Given the description of an element on the screen output the (x, y) to click on. 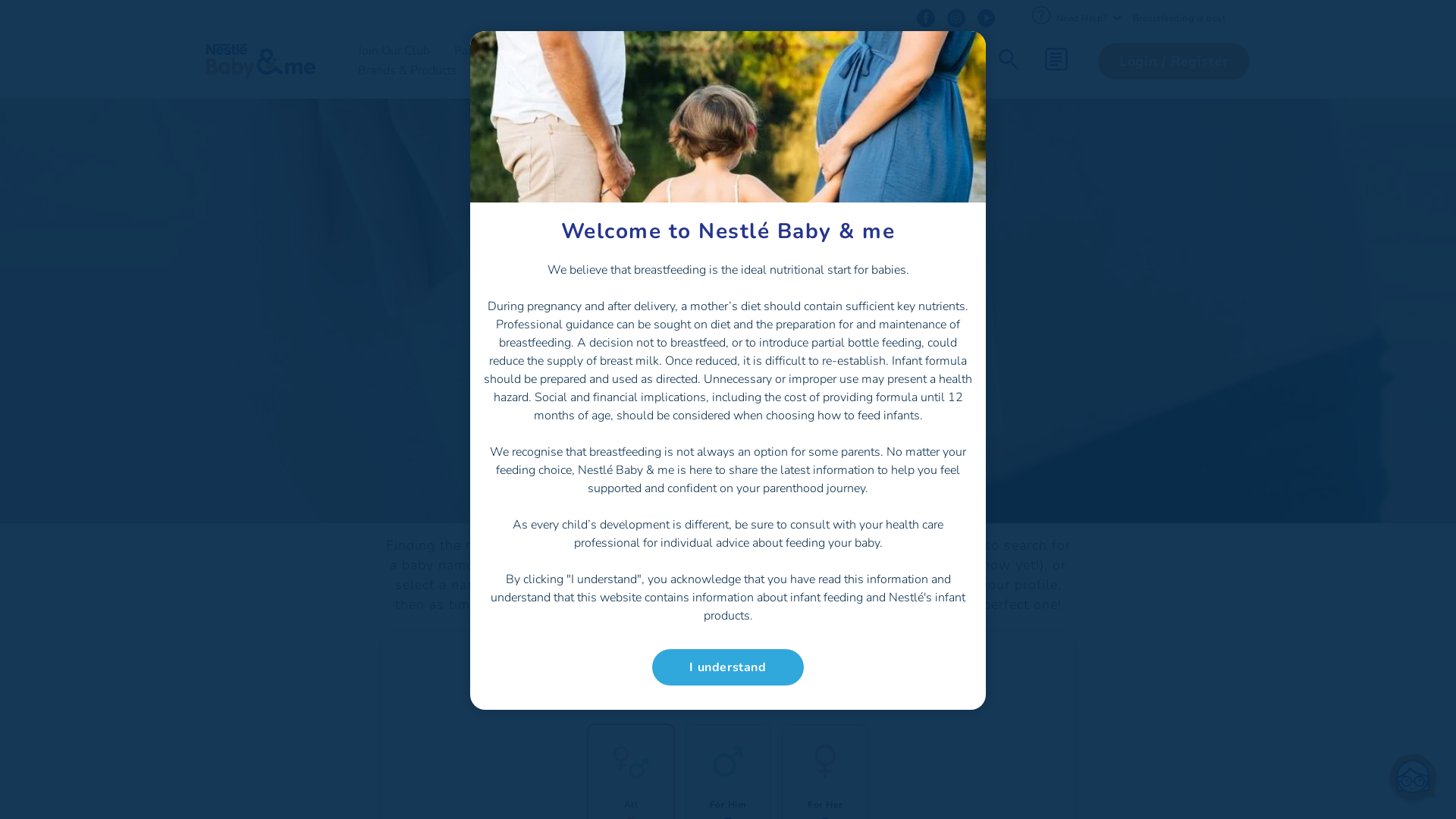
FAQs Icon Element type: hover (1040, 15)
youtube Element type: hover (985, 18)
Search Element type: text (1107, 115)
Search Element type: hover (1008, 61)
facebook Element type: hover (925, 18)
I understand Element type: text (727, 667)
instagram Element type: hover (955, 18)
Need Help? Element type: text (1087, 17)
Login / Register Element type: text (1173, 61)
MyFeed Personalized Content Element type: hover (1055, 58)
Join Our Club Element type: text (393, 50)
Breastfeeding is best Element type: text (1179, 17)
Partner Hub Element type: text (828, 50)
Skip to main content Element type: text (0, 0)
